Given the description of an element on the screen output the (x, y) to click on. 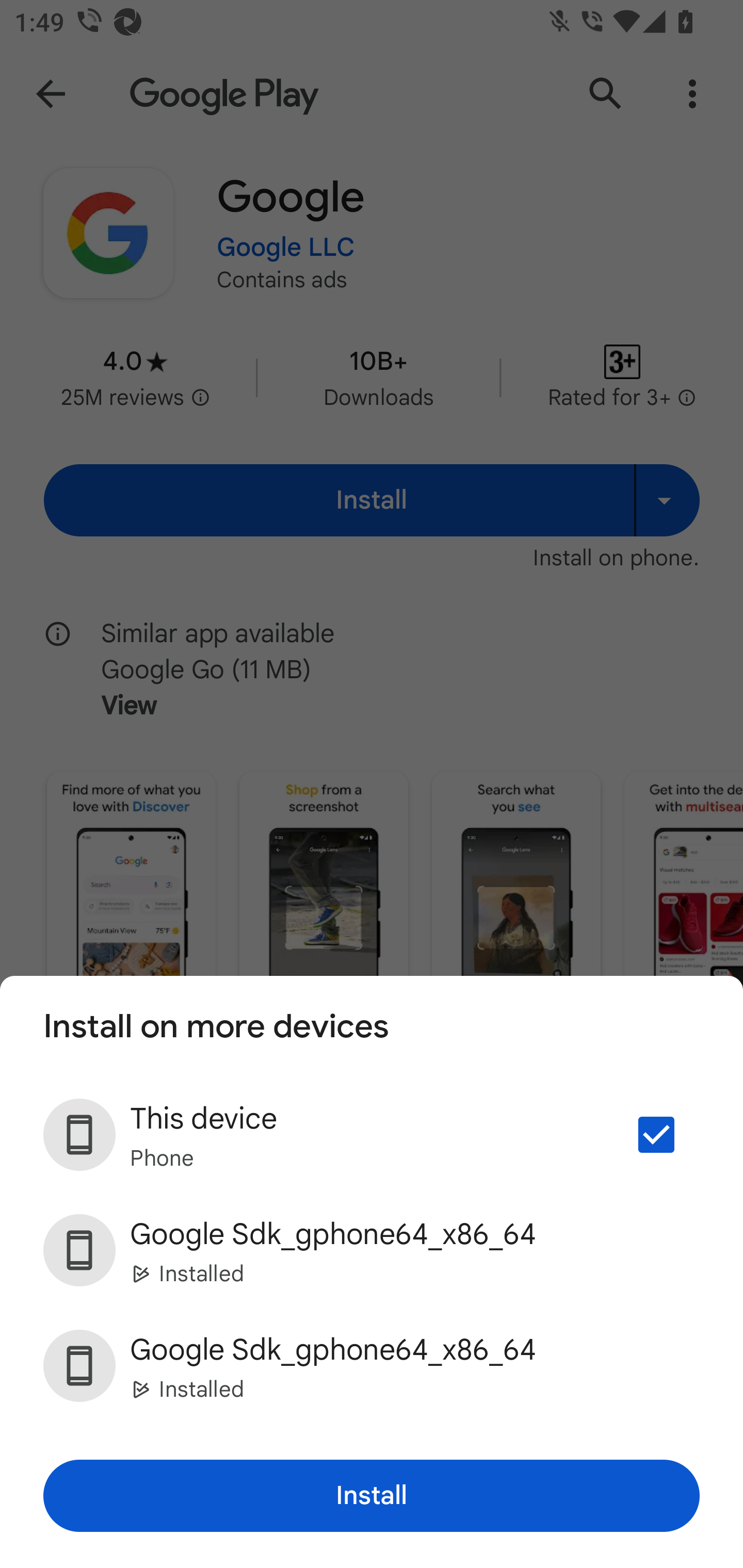
This device Phone (371, 1134)
Install (371, 1495)
